Given the description of an element on the screen output the (x, y) to click on. 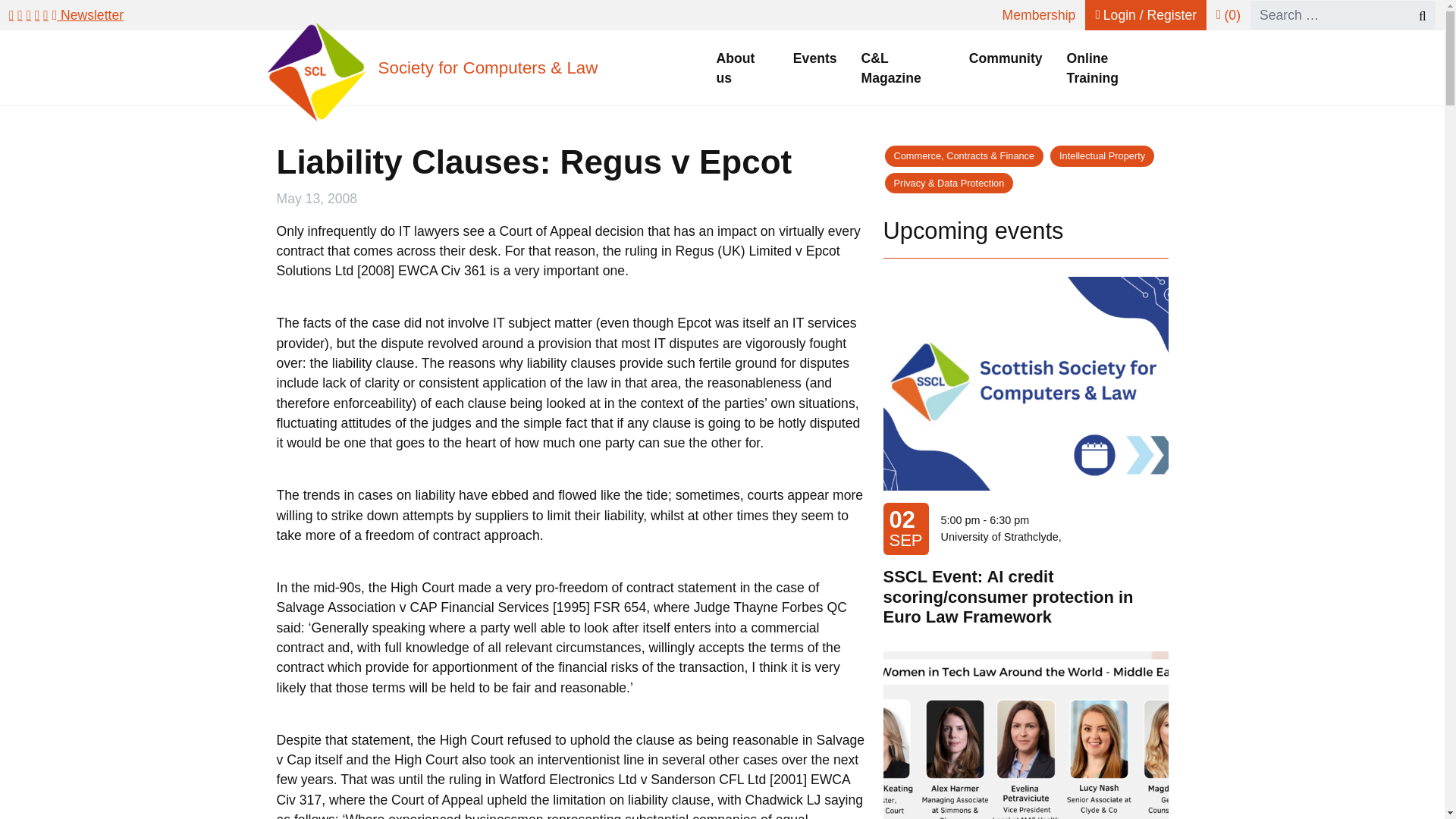
Search (1415, 14)
Search (1415, 14)
Login (1145, 15)
Shopping basket (1228, 15)
Community (1005, 58)
About us (741, 68)
Newsletter (87, 14)
Intellectual Property (1101, 155)
Membership (1039, 15)
Online Training (1111, 68)
